Given the description of an element on the screen output the (x, y) to click on. 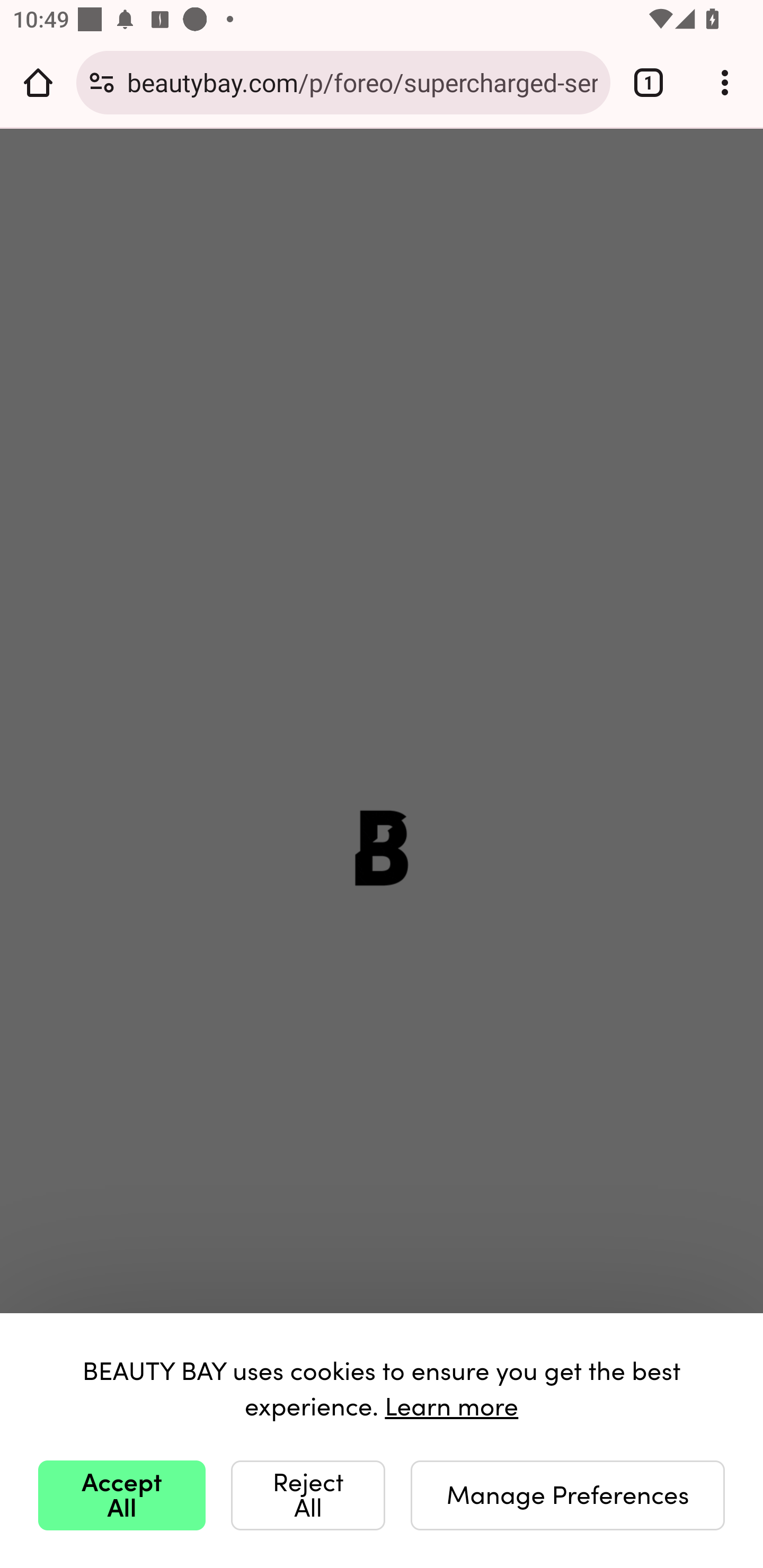
Open the home page (38, 82)
Connection is secure (101, 82)
Switch or close tabs (648, 82)
Customize and control Google Chrome (724, 82)
Learn more (451, 1404)
Accept All (122, 1494)
Reject All (308, 1494)
Manage Preferences (567, 1494)
